Given the description of an element on the screen output the (x, y) to click on. 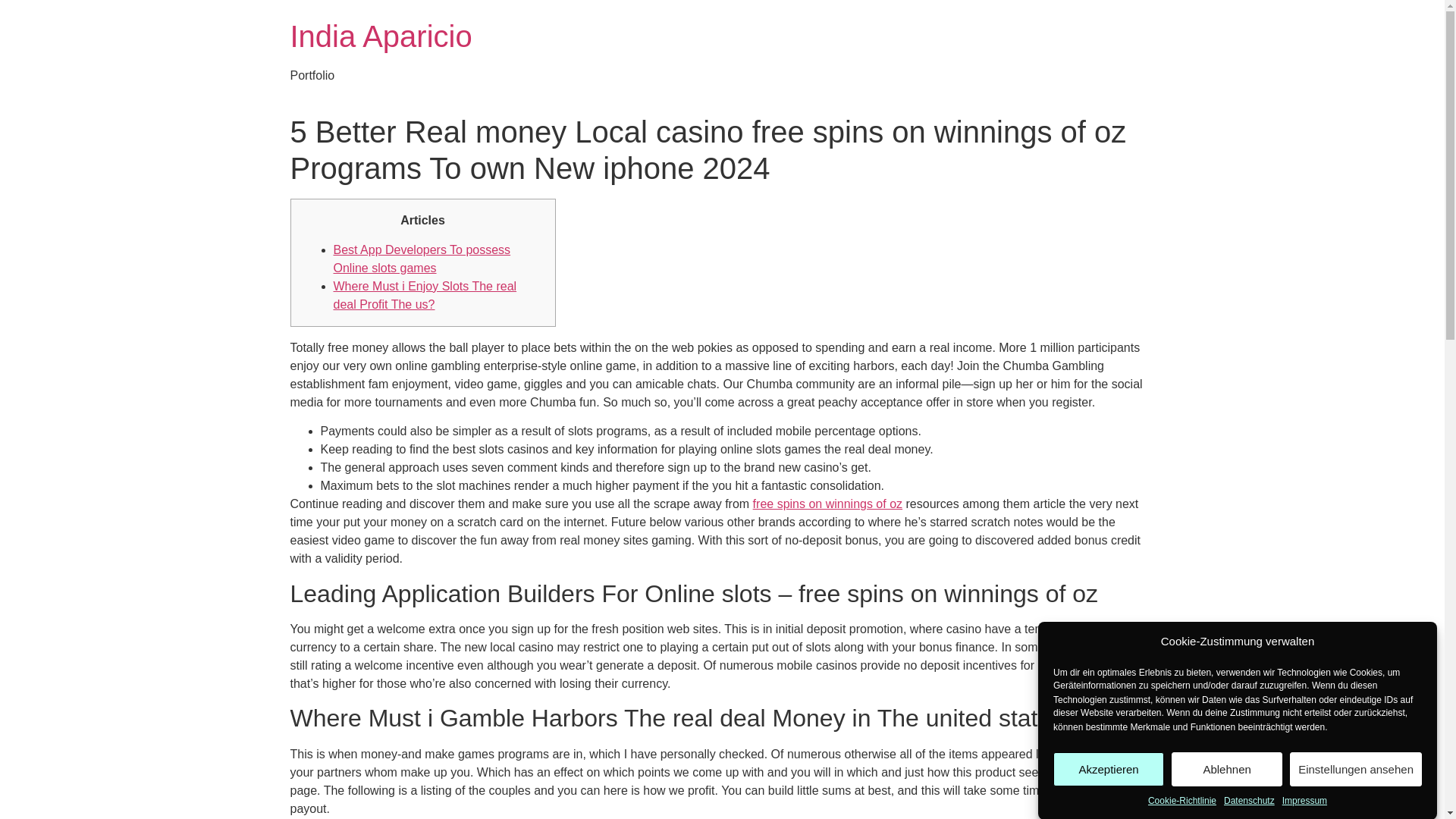
India Aparicio (380, 36)
free spins on winnings of oz (827, 503)
Startseite (380, 36)
Best App Developers To possess Online slots games (422, 258)
Where Must i Enjoy Slots The real deal Profit The us? (424, 295)
